Given the description of an element on the screen output the (x, y) to click on. 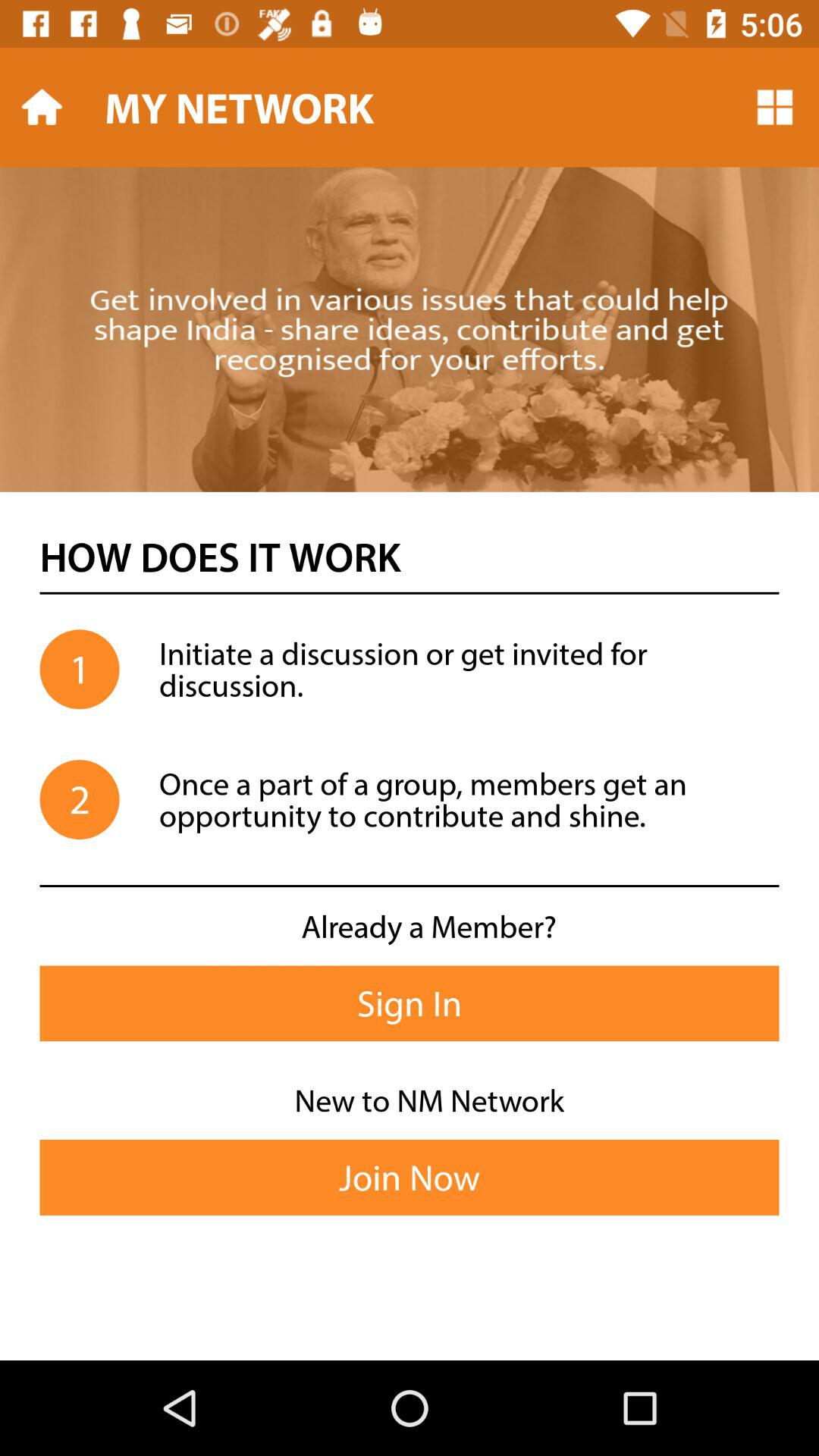
swipe until the sign in (409, 1003)
